Given the description of an element on the screen output the (x, y) to click on. 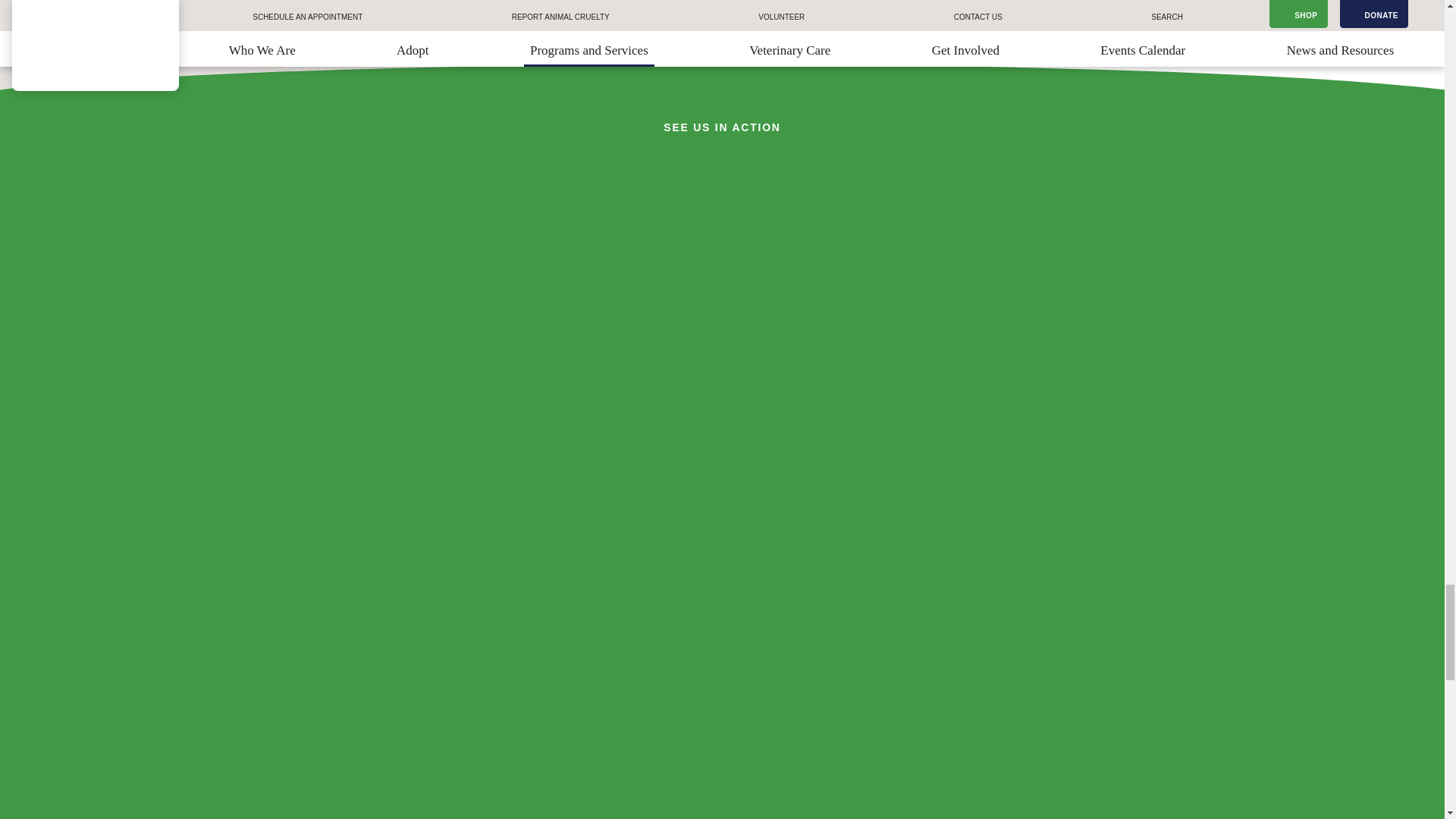
Subscribe (77, 62)
Subscribe (77, 62)
